Given the description of an element on the screen output the (x, y) to click on. 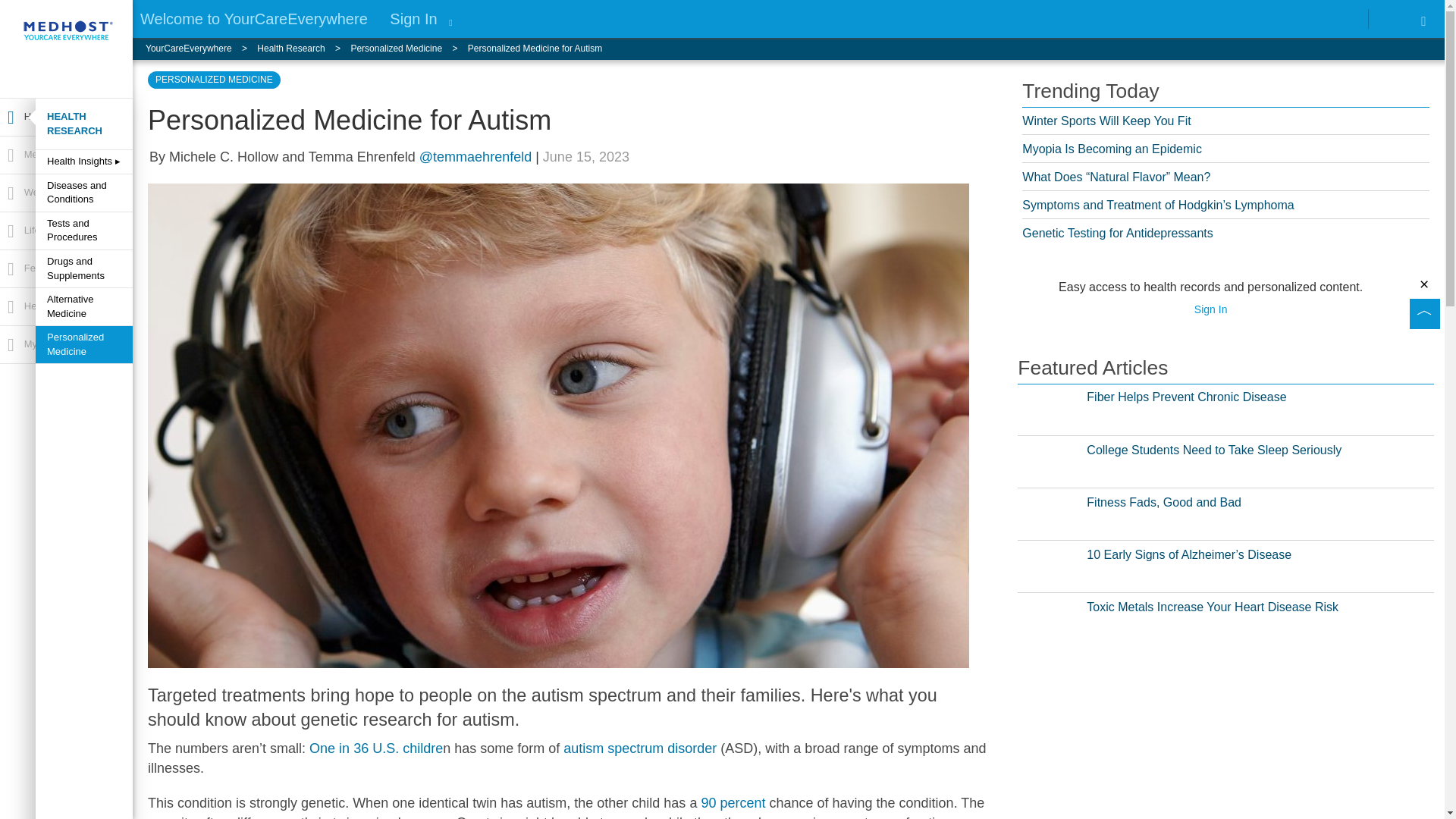
Health Research (65, 116)
YourCareEverywhere (201, 48)
HEALTH RESEARCH (83, 123)
Health Research (303, 48)
Personalized Medicine (408, 48)
Sign In (413, 18)
